Given the description of an element on the screen output the (x, y) to click on. 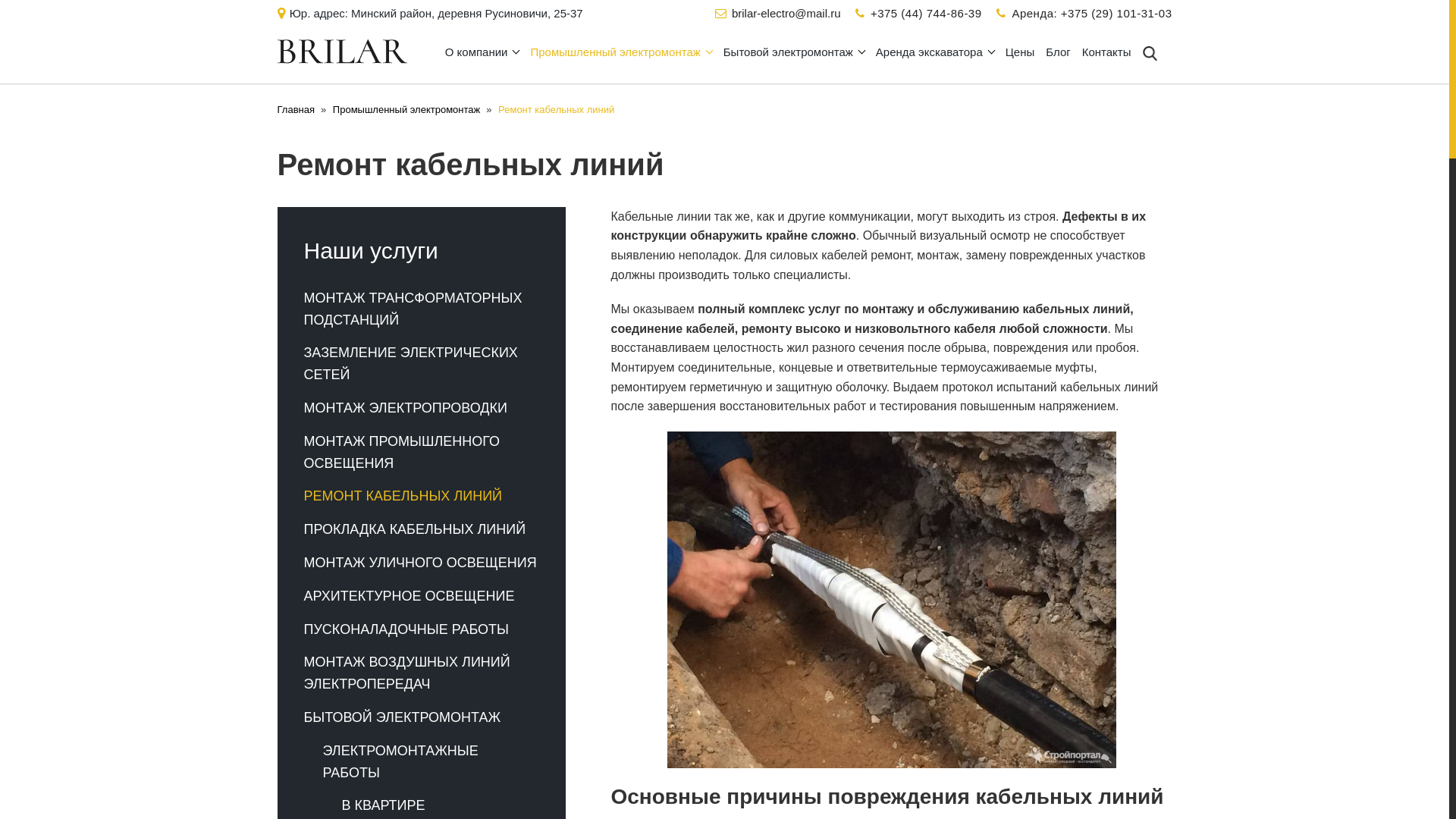
brilar-electro@mail.ru Element type: text (785, 12)
+375 (44) 744-86-39 Element type: text (926, 12)
